Given the description of an element on the screen output the (x, y) to click on. 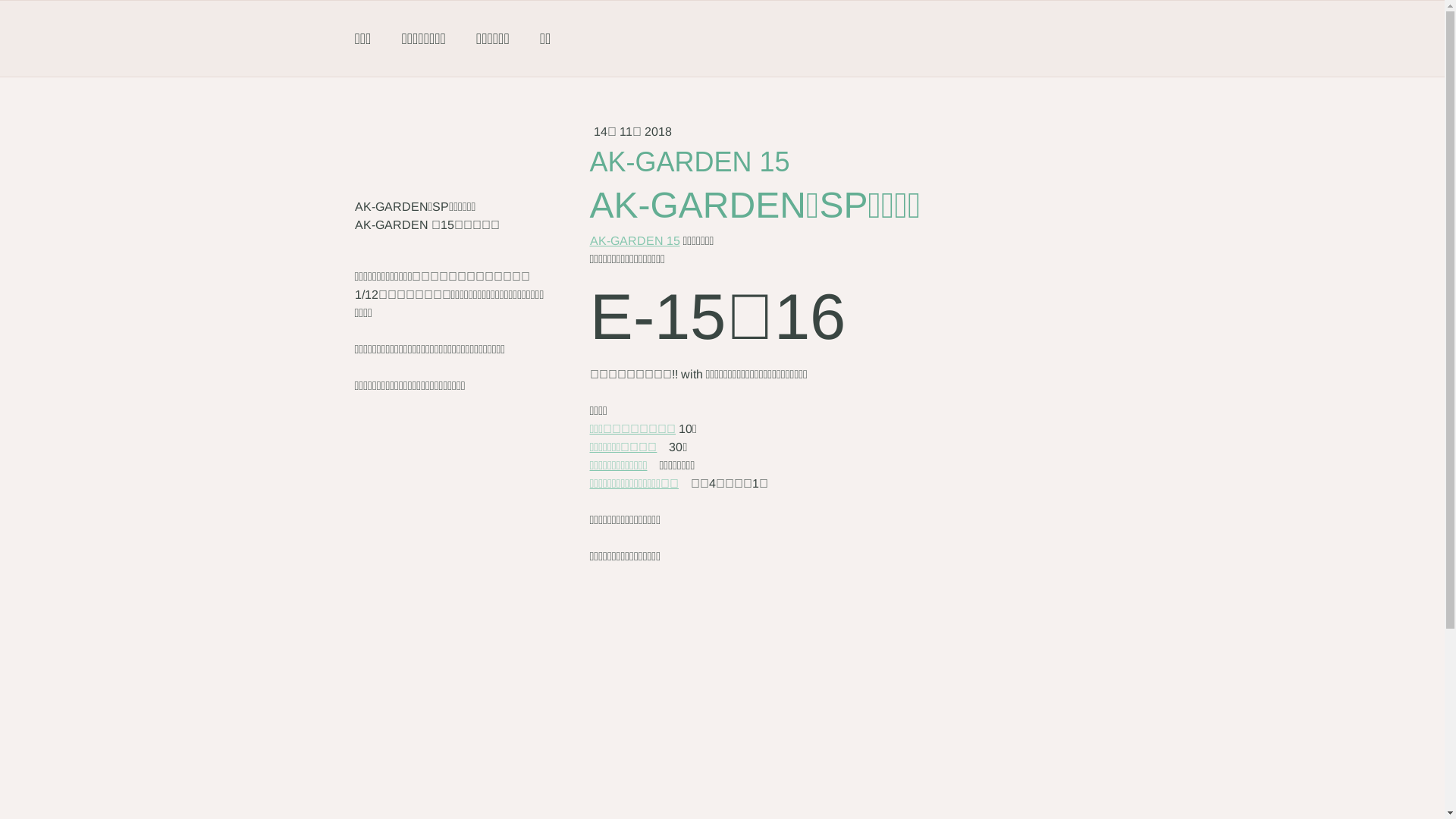
AK-GARDEN 15 Element type: text (634, 240)
